Given the description of an element on the screen output the (x, y) to click on. 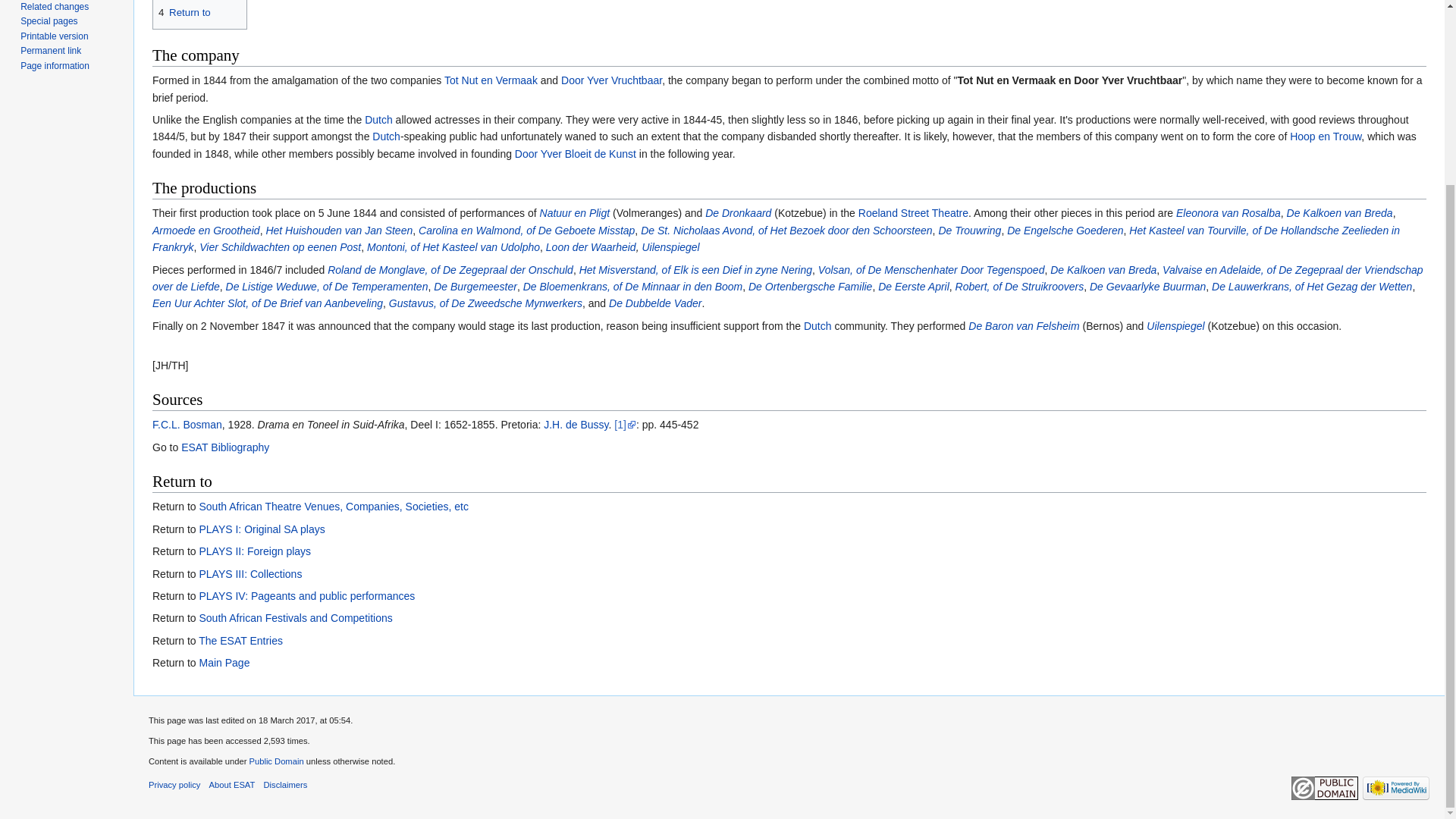
De Engelsche Goederen (1064, 230)
Uilenspiegel (670, 246)
Door Yver Bloeit de Kunst (575, 153)
De Trouwring (969, 230)
Dutch (386, 136)
De St. Nicholaas Avond, of Het Bezoek door den Schoorsteen (785, 230)
Door Yver Bloeit de Kunst (575, 153)
De Listige Weduwe, of De Temperamenten (326, 286)
Roeland Street Theatre (913, 213)
Dutch (379, 119)
